Given the description of an element on the screen output the (x, y) to click on. 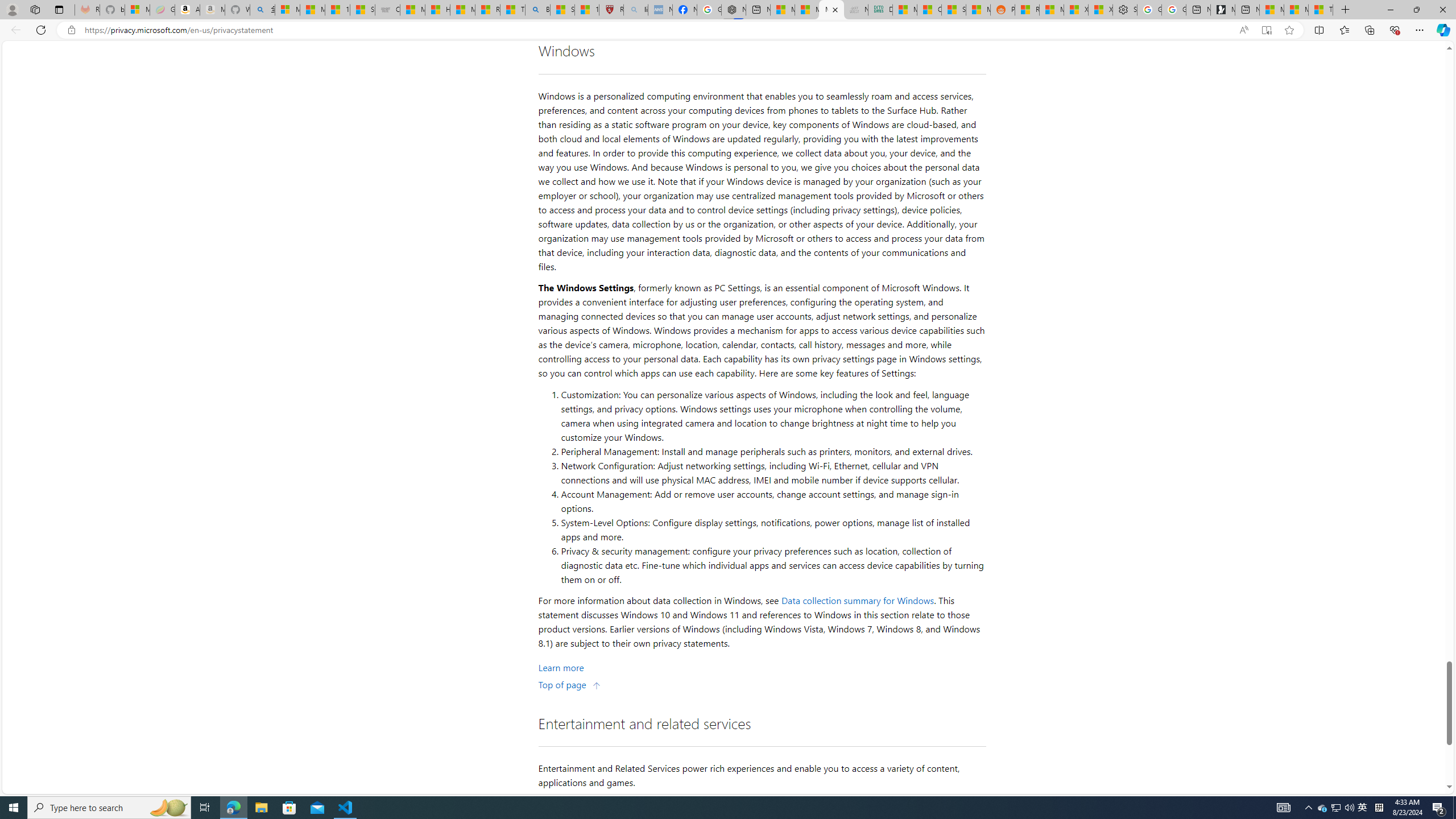
MSN (977, 9)
Data collection summary for Windows (857, 600)
